Given the description of an element on the screen output the (x, y) to click on. 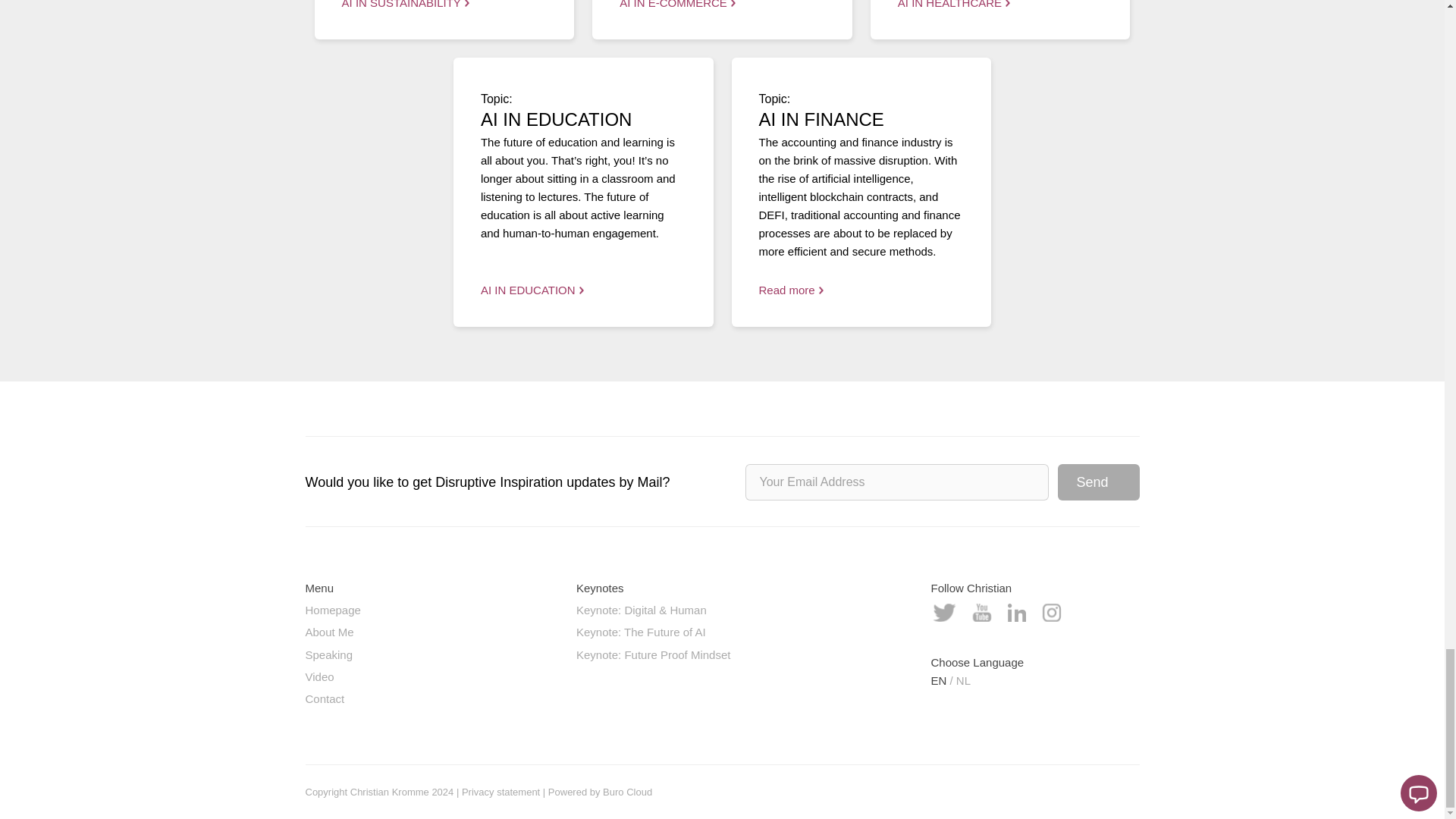
Send (1097, 482)
